Given the description of an element on the screen output the (x, y) to click on. 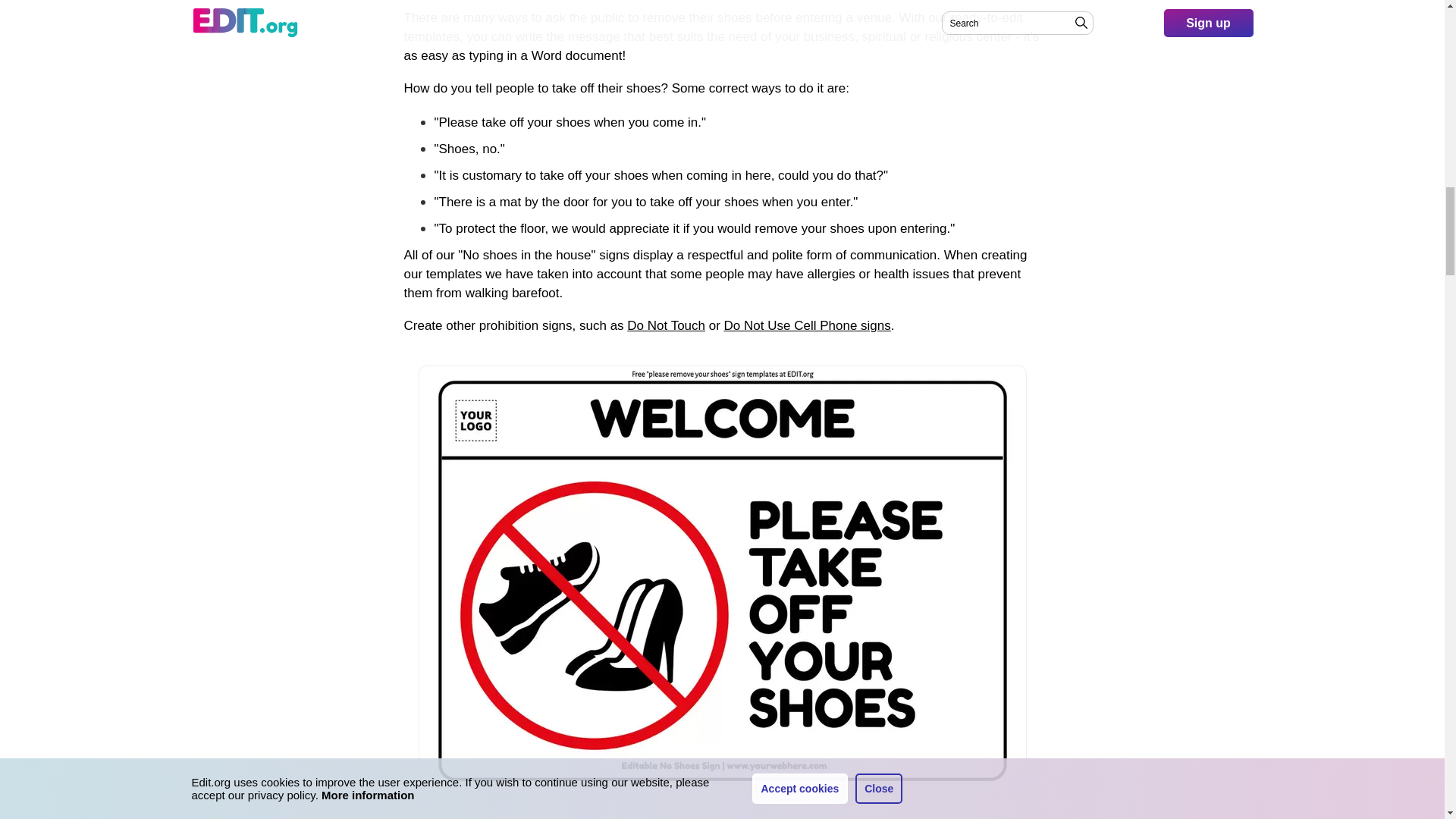
Do Not Use Cell Phone signs (807, 325)
Do Not Touch (665, 325)
Printable Do not touch sign templates online (665, 325)
No Cell Phone Use posters online (807, 325)
